Given the description of an element on the screen output the (x, y) to click on. 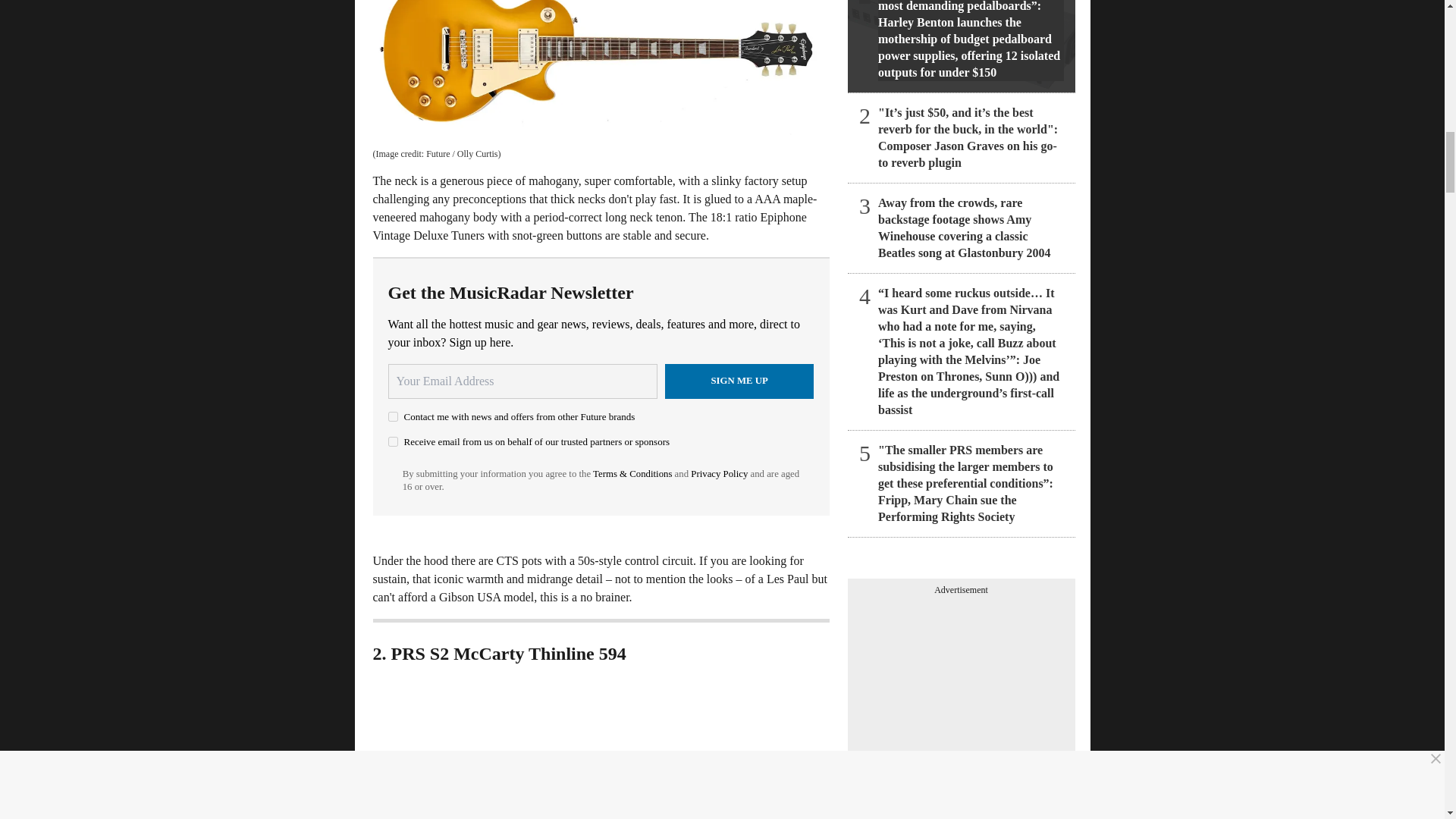
Sign me up (739, 380)
on (392, 441)
on (392, 416)
